Given the description of an element on the screen output the (x, y) to click on. 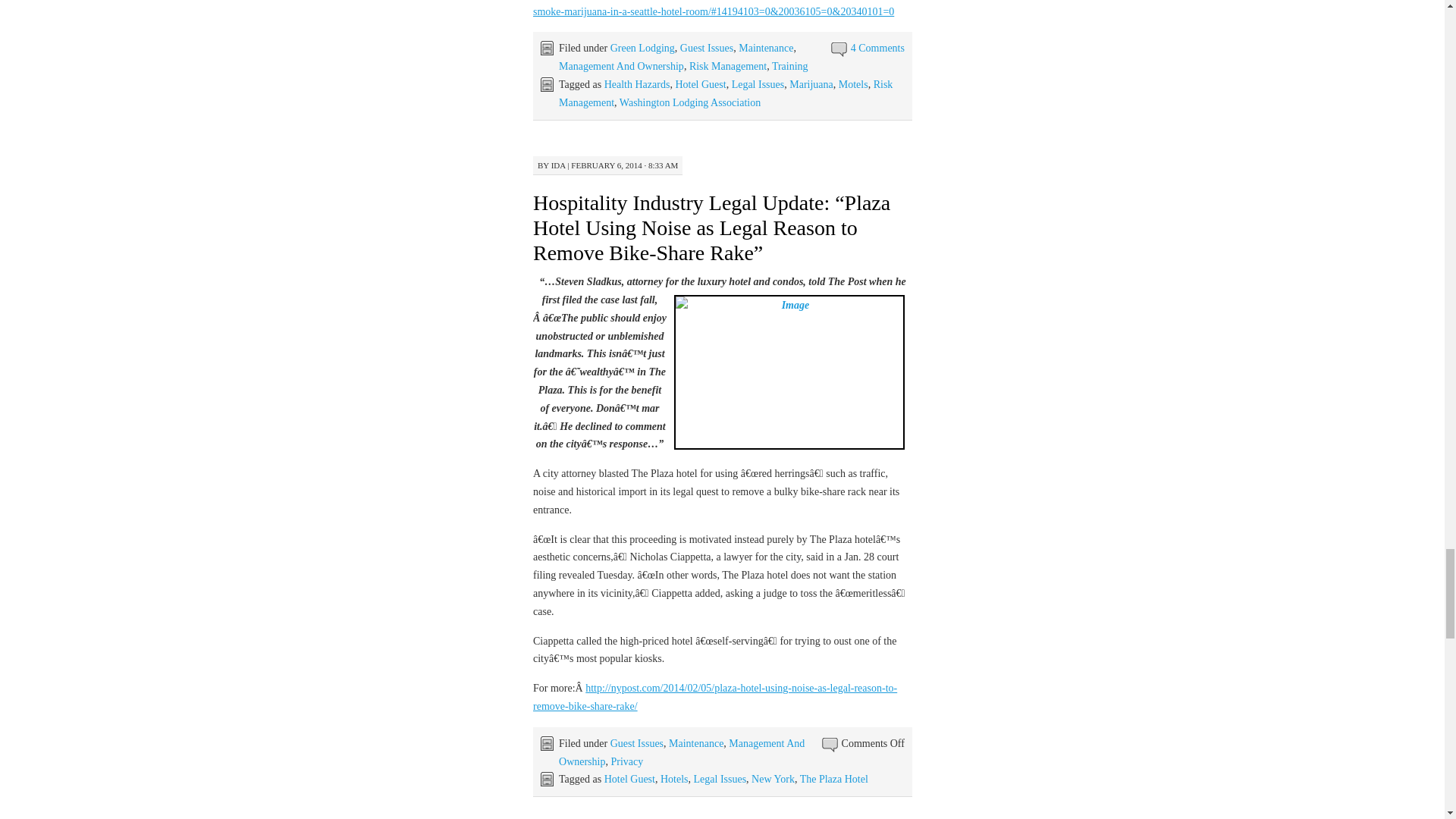
View all posts by Ida (558, 164)
